Given the description of an element on the screen output the (x, y) to click on. 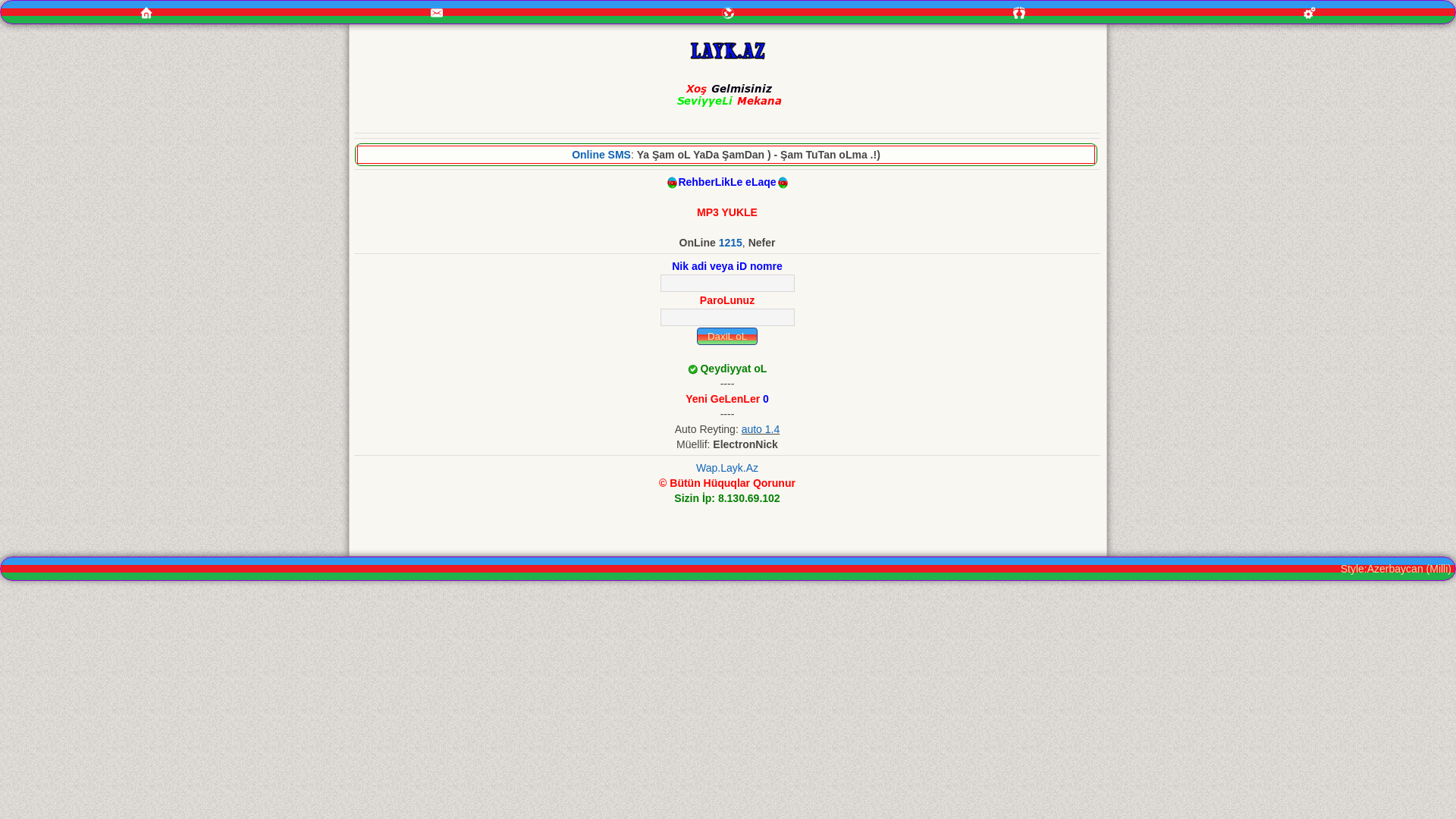
Parol Element type: hover (726, 317)
Qonaqlar Element type: hover (1018, 11)
MP3 YUKLE Element type: text (726, 212)
Mektublar Element type: hover (727, 12)
Mesajlar Element type: hover (437, 11)
Qeydiyyat oL Element type: text (732, 368)
Wap.Layk.Az Element type: text (727, 467)
Style:Azerbaycan (Milli) Element type: text (1395, 568)
1215 Element type: text (730, 242)
auto 1.4 Element type: text (760, 429)
Ana Sehife Element type: hover (146, 12)
Qonaqlar Element type: hover (1019, 12)
Ana Sehife Element type: hover (145, 11)
Mektublar Element type: hover (727, 11)
RehberLikLe eLaqe Element type: text (726, 181)
Online SMS Element type: text (600, 154)
Mesajlar Element type: hover (436, 12)
DaxiL oL Element type: text (727, 336)
nick Element type: hover (726, 282)
